Given the description of an element on the screen output the (x, y) to click on. 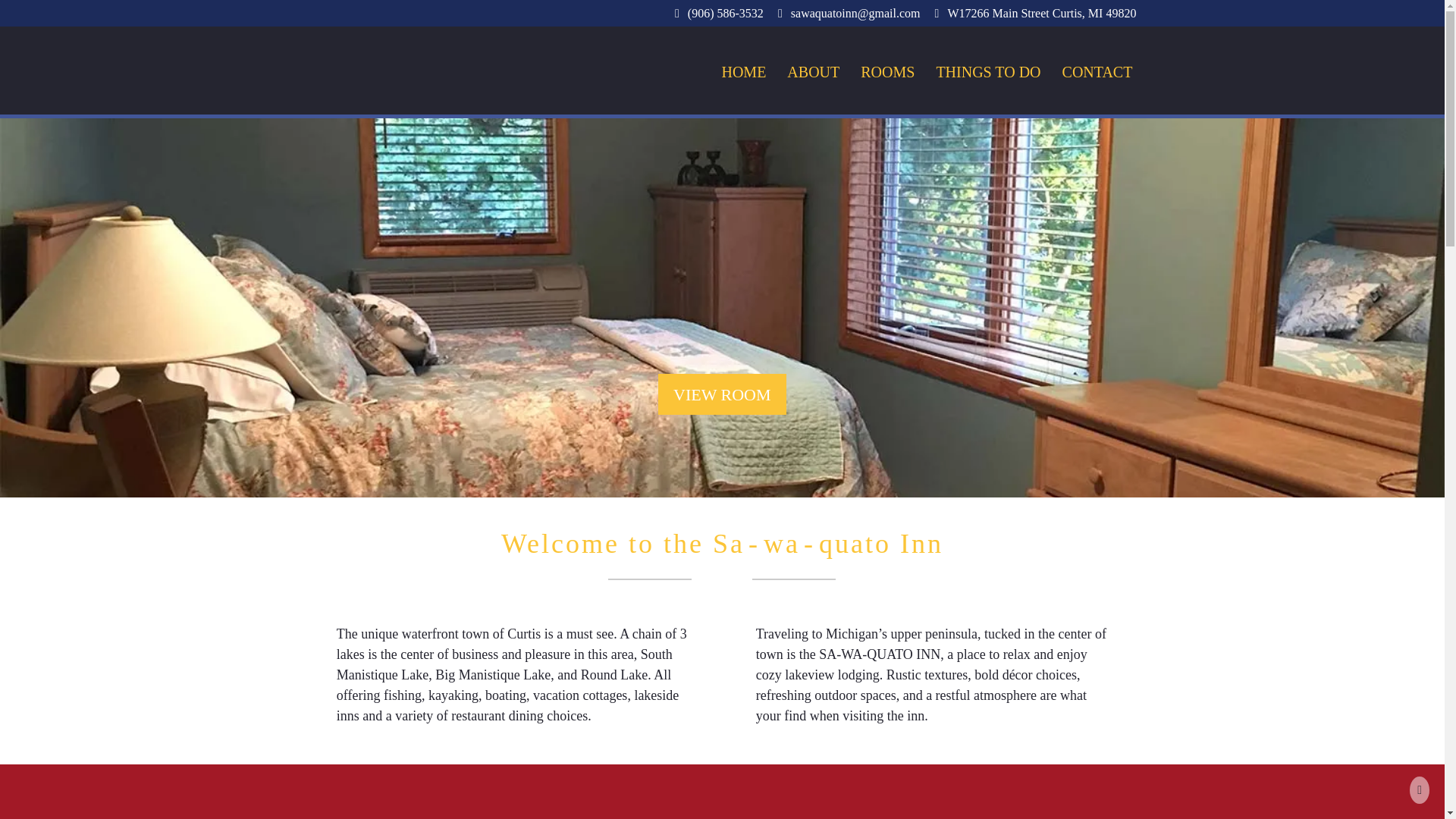
THINGS TO DO (987, 72)
VIEW ROOM (722, 393)
ABOUT (812, 72)
HOME (742, 72)
CONTACT (1096, 72)
ROOMS (887, 72)
W17266 Main Street Curtis, MI 49820 (1040, 13)
